Given the description of an element on the screen output the (x, y) to click on. 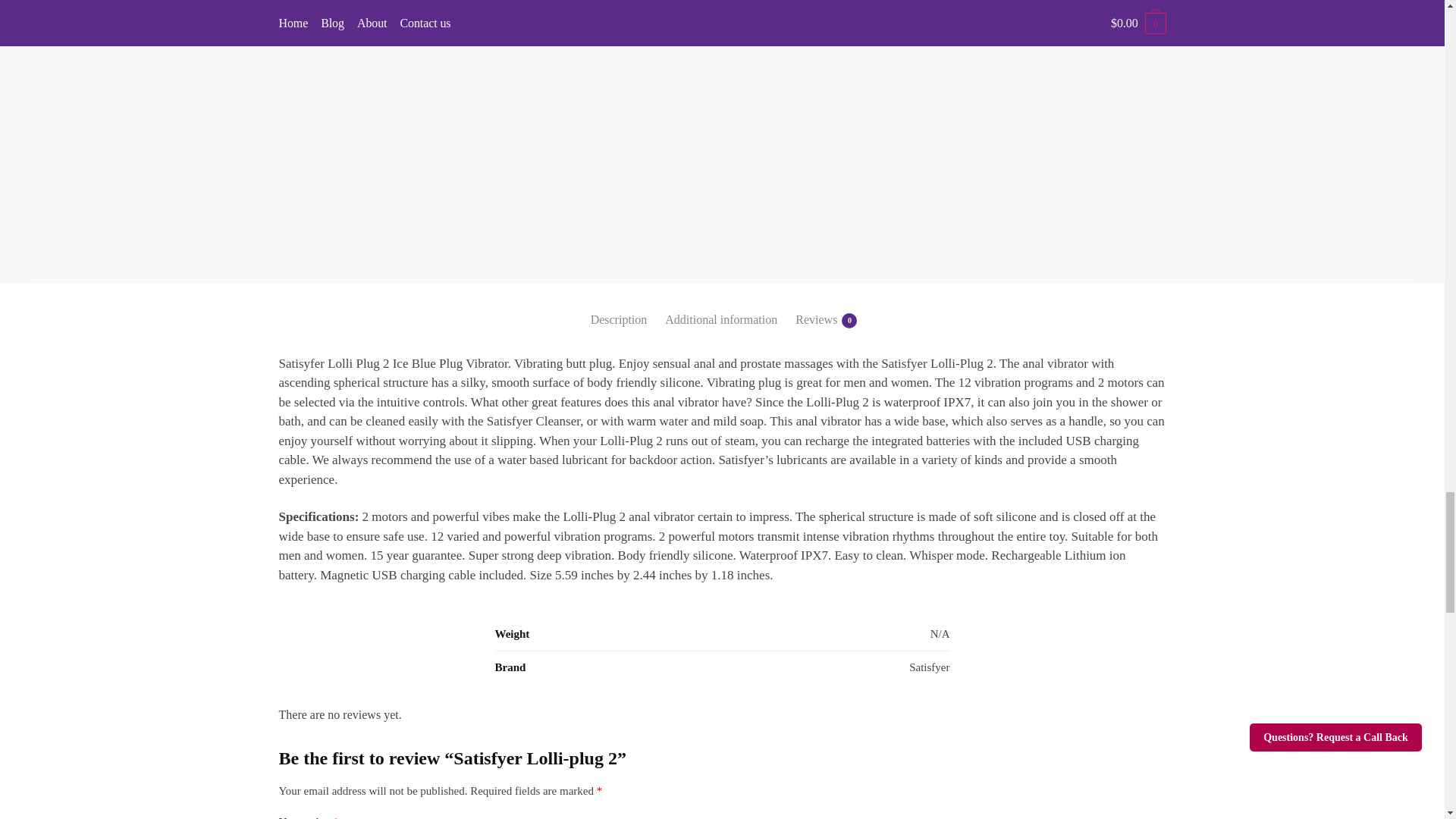
Additional information (721, 307)
Description (619, 307)
